Given the description of an element on the screen output the (x, y) to click on. 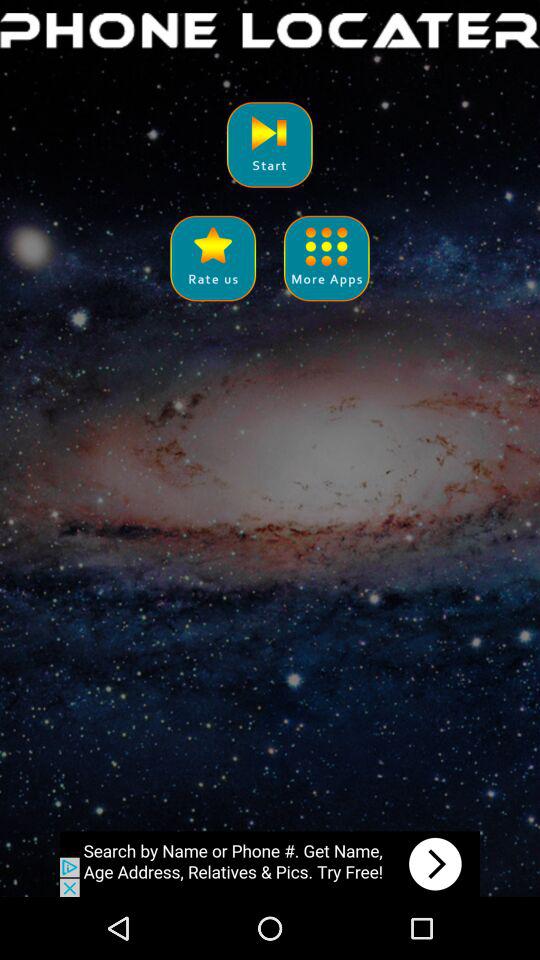
share the article (212, 258)
